Given the description of an element on the screen output the (x, y) to click on. 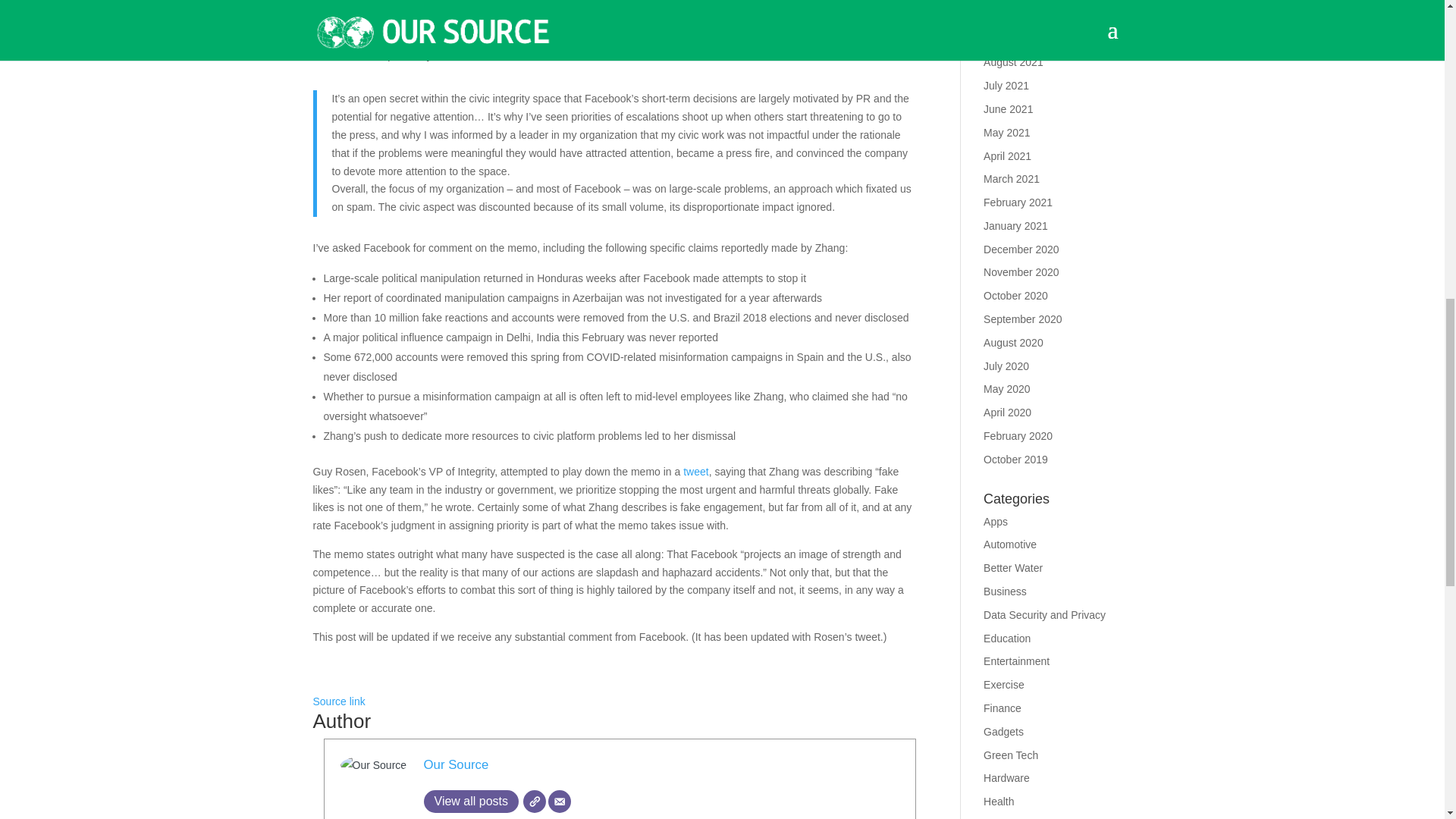
Our Source (455, 764)
View all posts (470, 801)
tweet (694, 471)
Source link (339, 701)
Our Source (455, 764)
View all posts (470, 801)
